Given the description of an element on the screen output the (x, y) to click on. 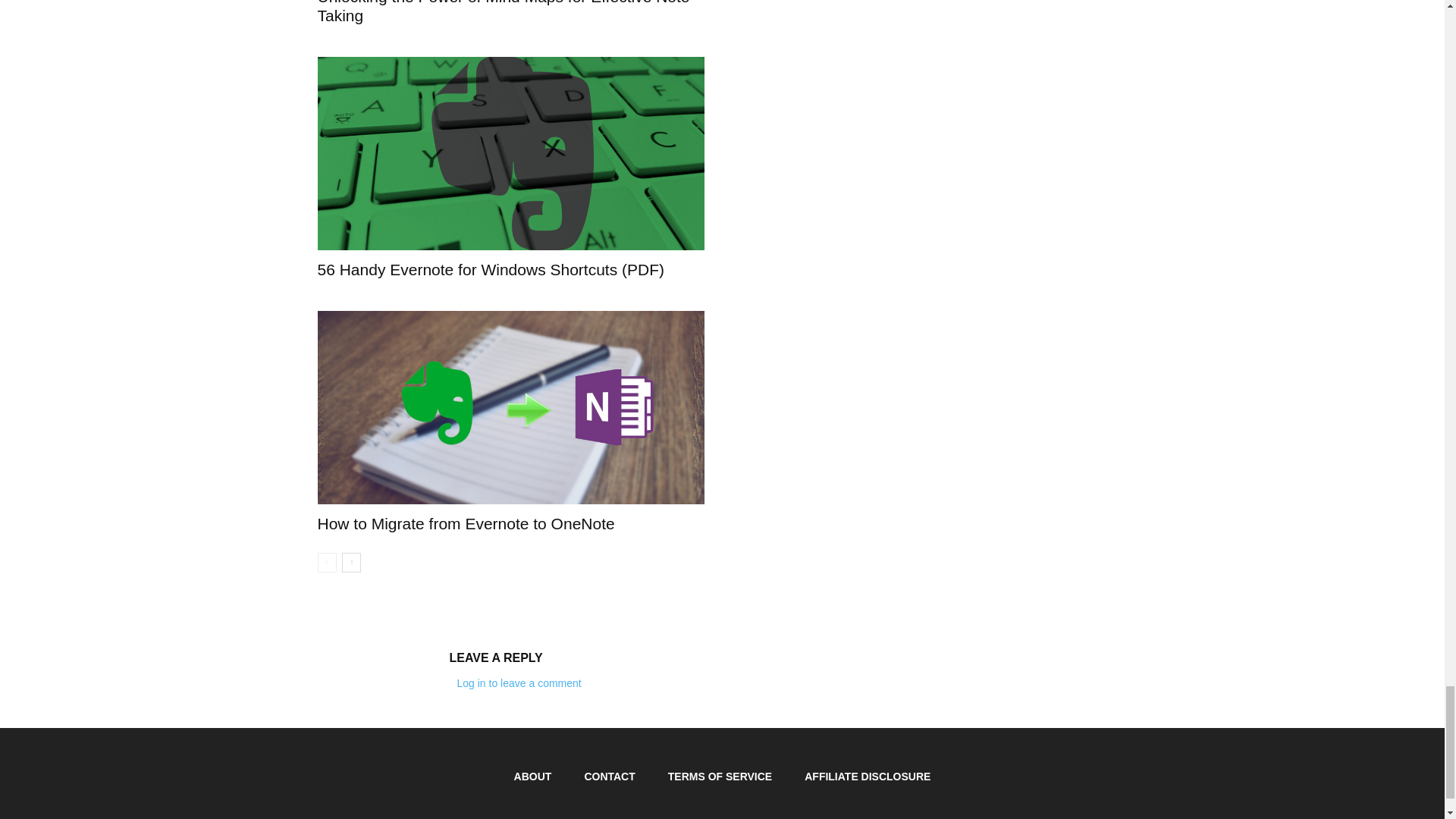
Unlocking the Power of Mind Maps for Effective Note-Taking (505, 12)
